Given the description of an element on the screen output the (x, y) to click on. 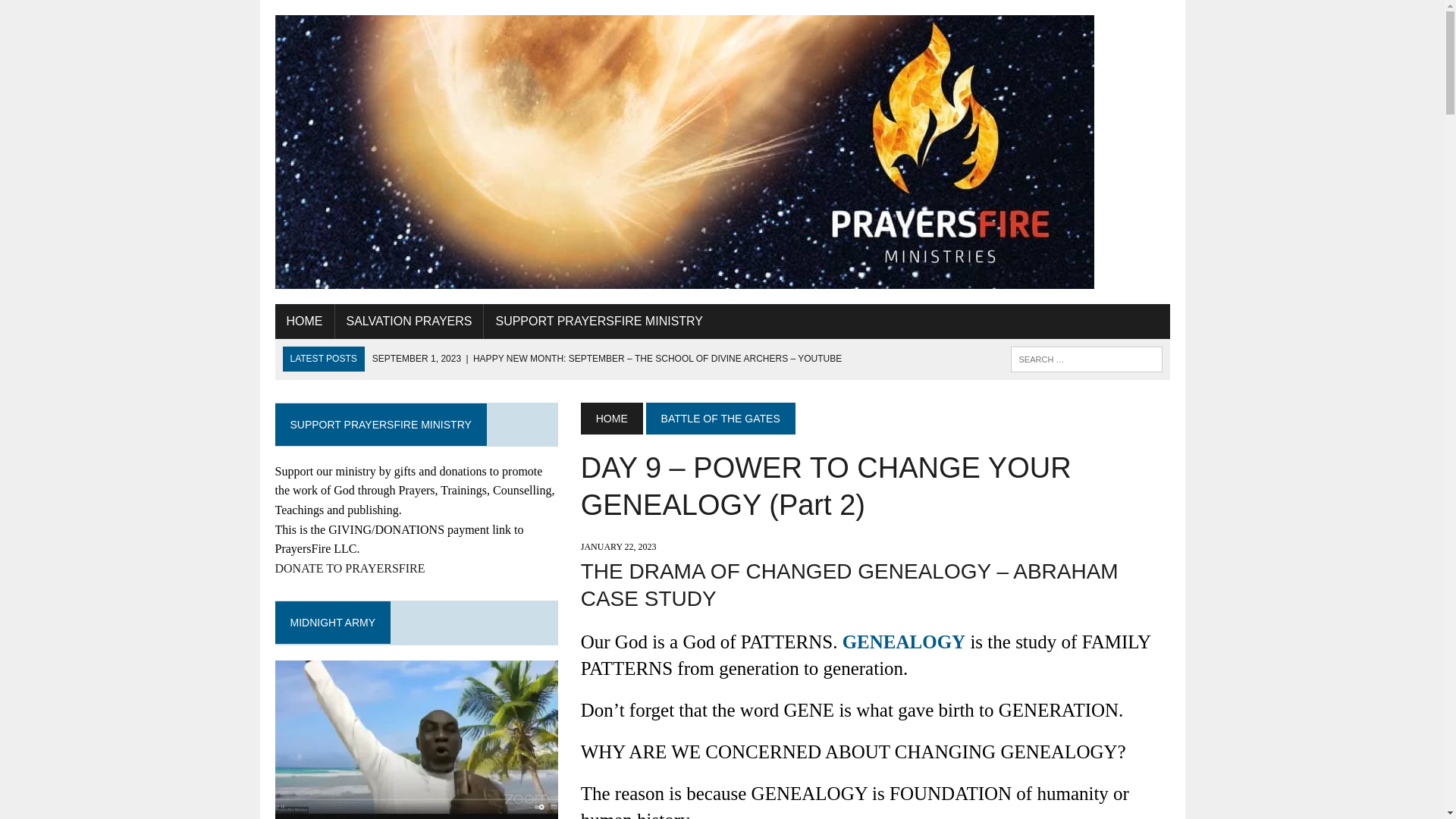
BATTLE OF THE GATES (720, 418)
HOME (611, 418)
HOME (304, 321)
GENEALOGY (904, 641)
SALVATION PRAYERS (408, 321)
Search (75, 14)
SUPPORT PRAYERSFIRE MINISTRY (598, 321)
